Given the description of an element on the screen output the (x, y) to click on. 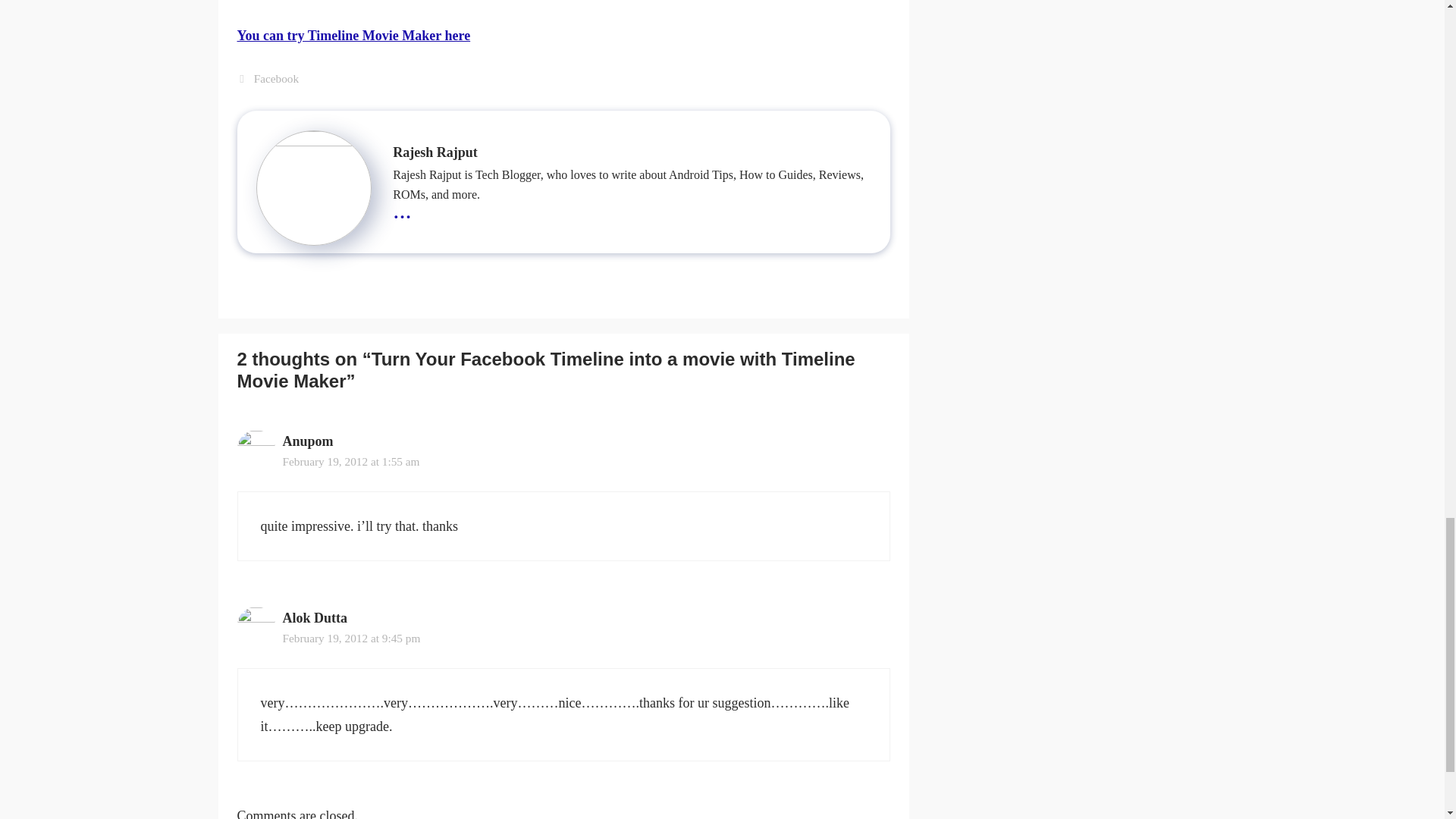
February 19, 2012 at 9:45 pm (351, 637)
You can try Timeline Movie Maker here (352, 35)
February 19, 2012 at 1:55 am (350, 461)
Facebook (275, 78)
